Given the description of an element on the screen output the (x, y) to click on. 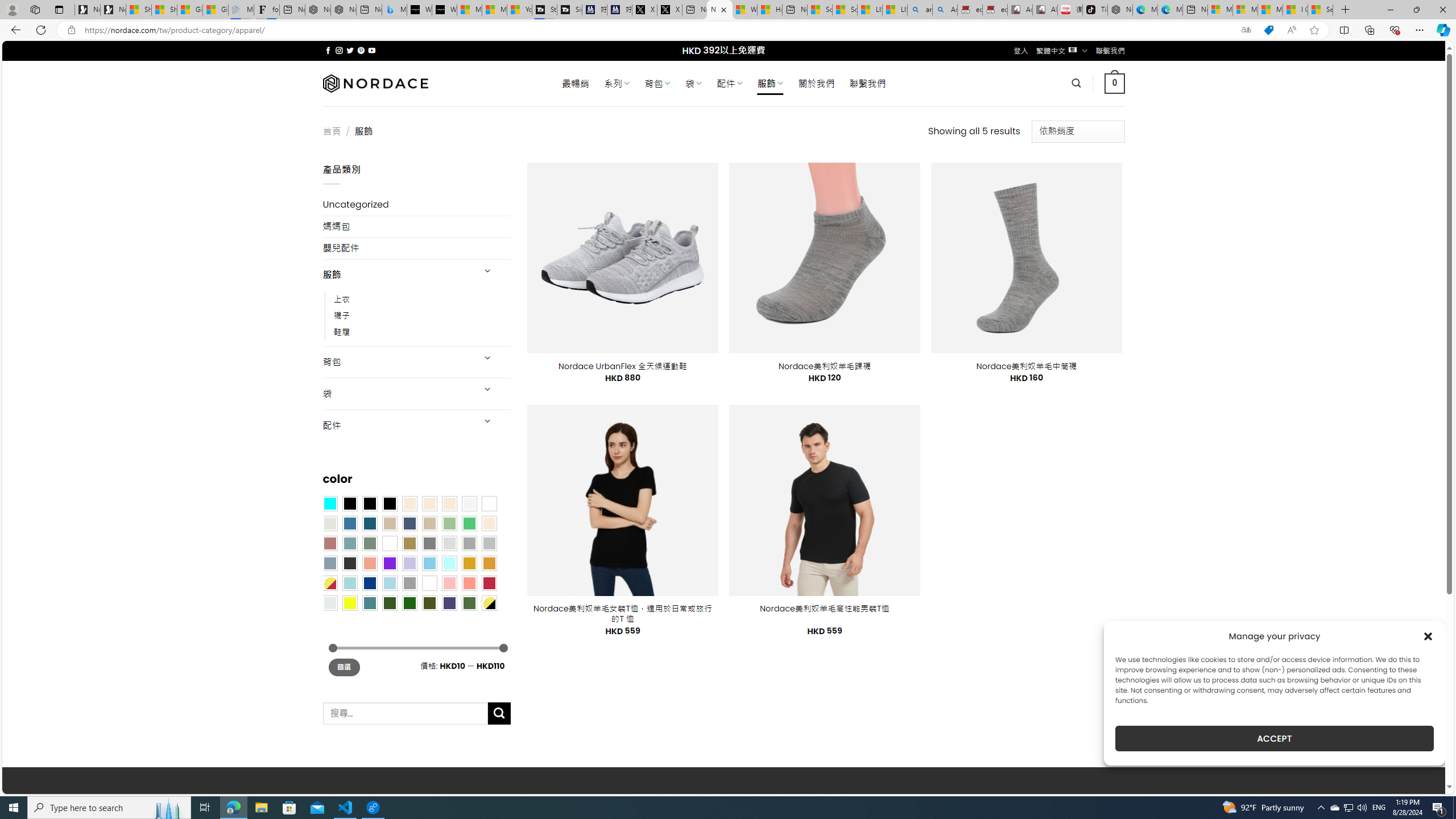
Follow on Facebook (327, 50)
TikTok (1094, 9)
